Given the description of an element on the screen output the (x, y) to click on. 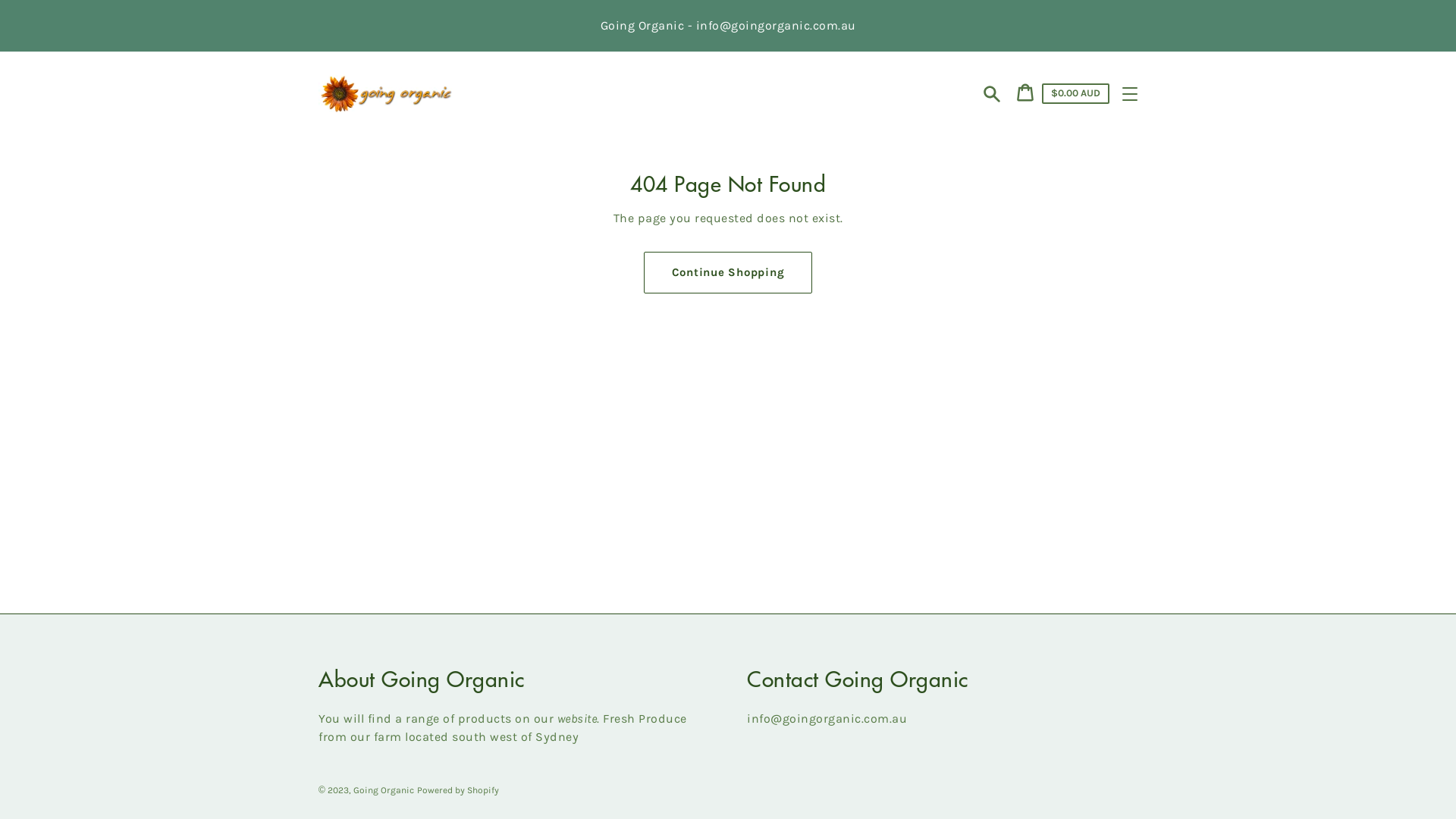
Search Element type: text (991, 93)
Continue Shopping Element type: text (727, 272)
Going Organic Element type: text (383, 789)
Powered by Shopify Element type: text (457, 789)
Cart
Cart price
$0.00 AUD Element type: text (1062, 93)
